Given the description of an element on the screen output the (x, y) to click on. 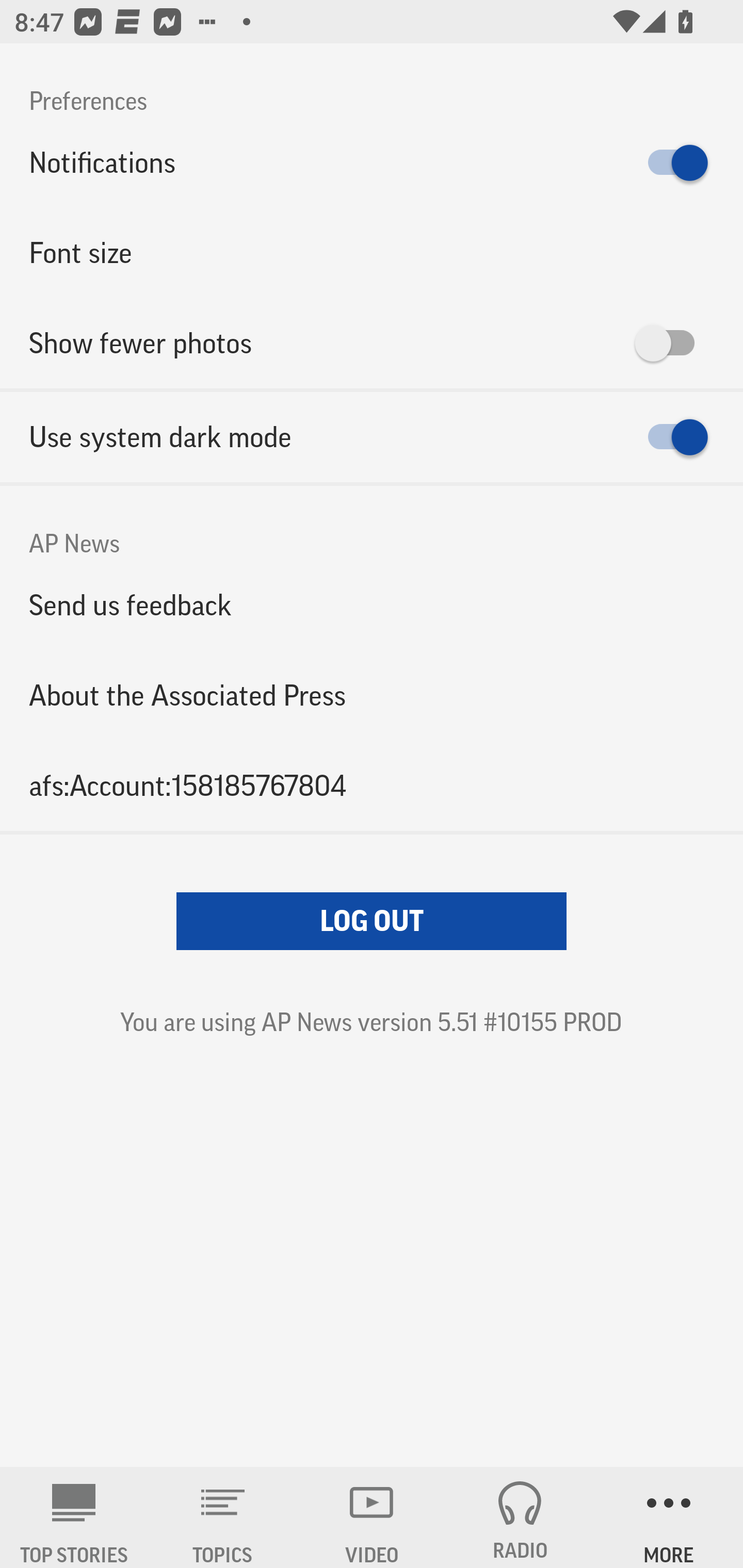
Notifications (371, 162)
Font size (371, 252)
Show fewer photos (371, 342)
Use system dark mode (371, 437)
Send us feedback (371, 604)
About the Associated Press (371, 695)
afs:Account:158185767804 (371, 785)
LOG OUT (371, 921)
AP News TOP STORIES (74, 1517)
TOPICS (222, 1517)
VIDEO (371, 1517)
RADIO (519, 1517)
MORE (668, 1517)
